Given the description of an element on the screen output the (x, y) to click on. 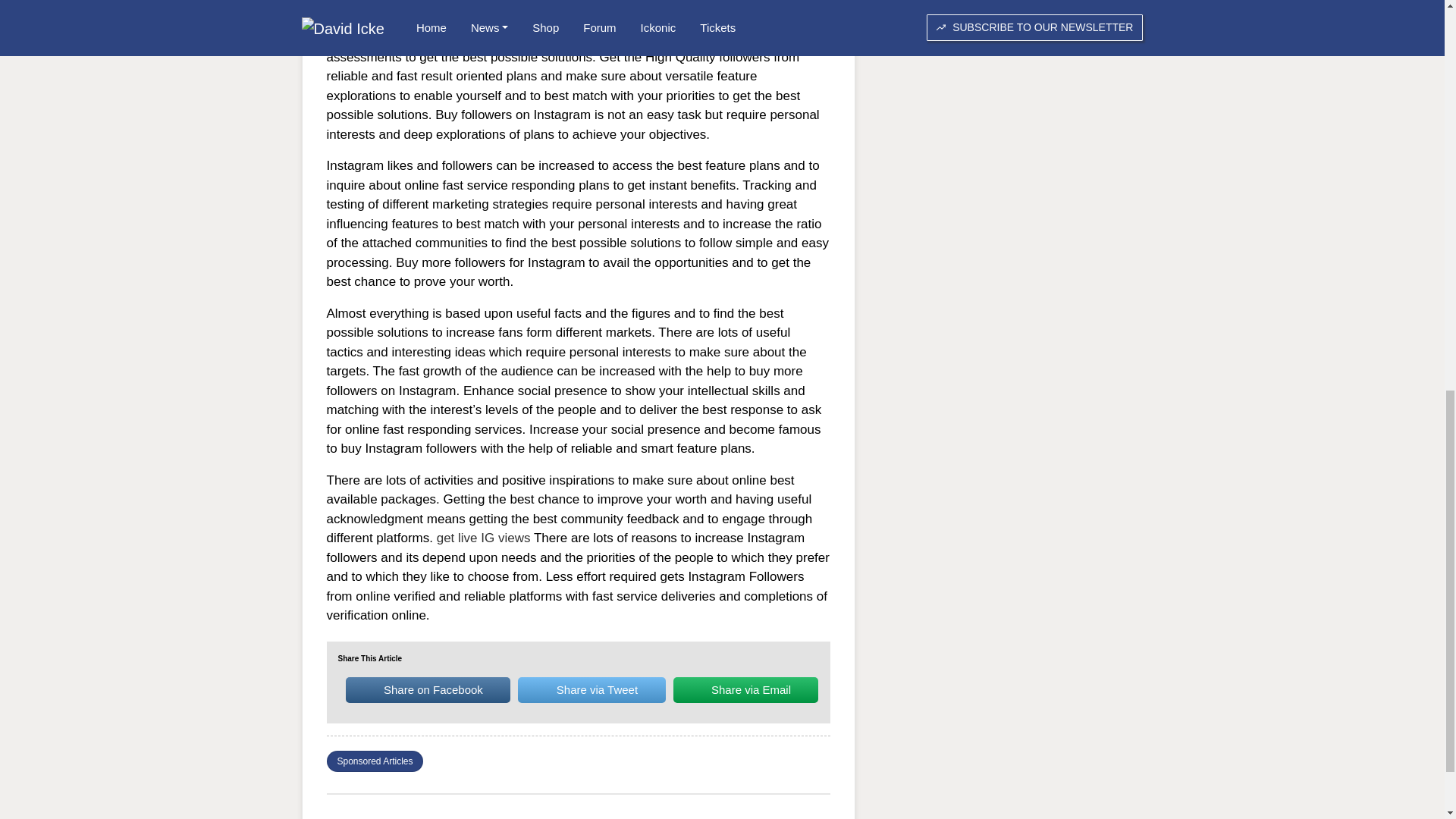
Sponsored Articles (374, 760)
Share via Tweet (591, 689)
Share on Facebook (428, 689)
Share via Email (745, 689)
get live IG views (483, 537)
get instagram followers (548, 28)
